Given the description of an element on the screen output the (x, y) to click on. 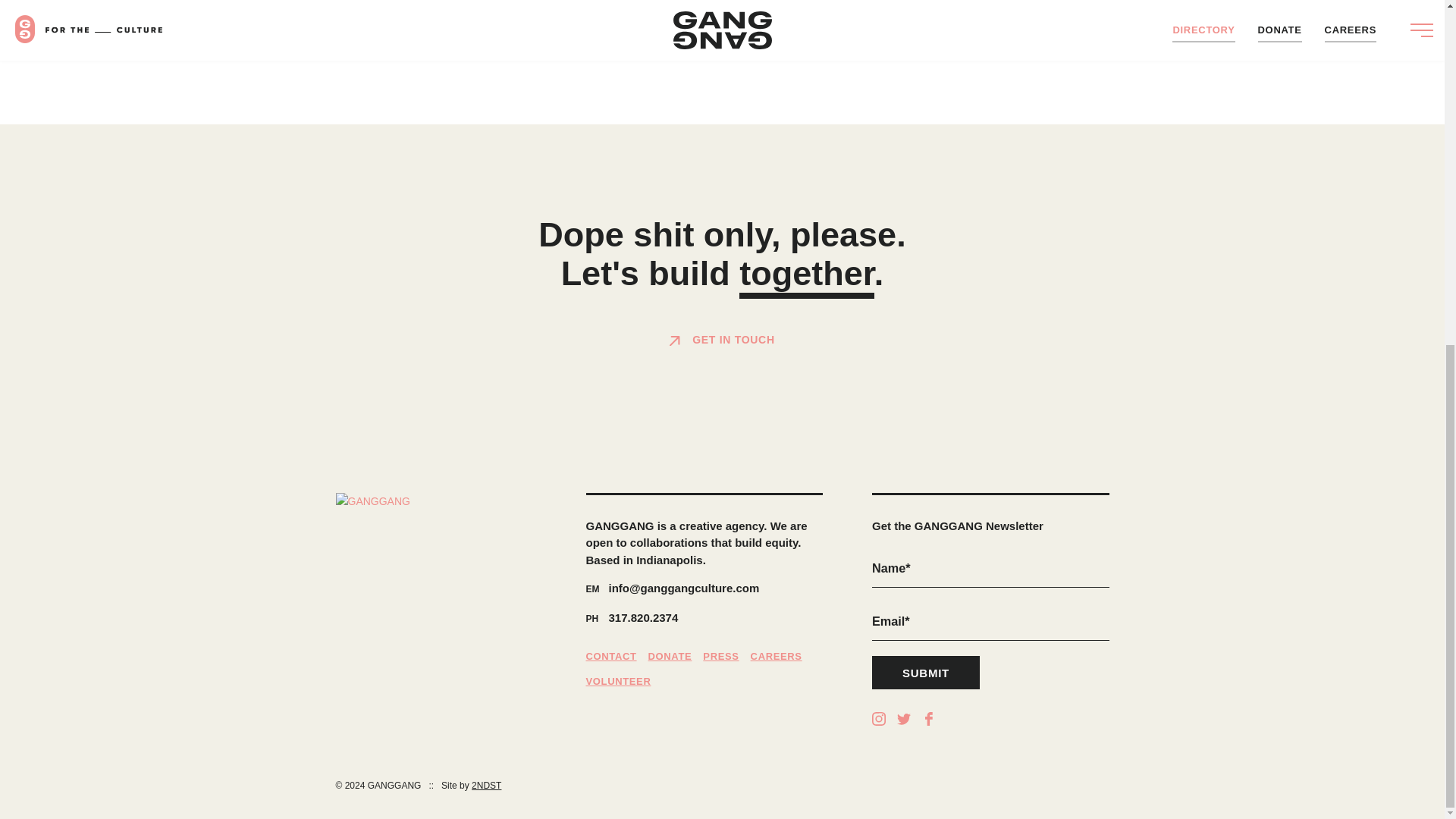
VOLUNTEER (617, 681)
GET IN TOUCH (721, 339)
PRESS (720, 656)
Submit (925, 672)
DONATE (670, 656)
PH317.820.2374 (703, 618)
CONTACT (610, 656)
Submit (925, 672)
CAREERS (776, 656)
